Given the description of an element on the screen output the (x, y) to click on. 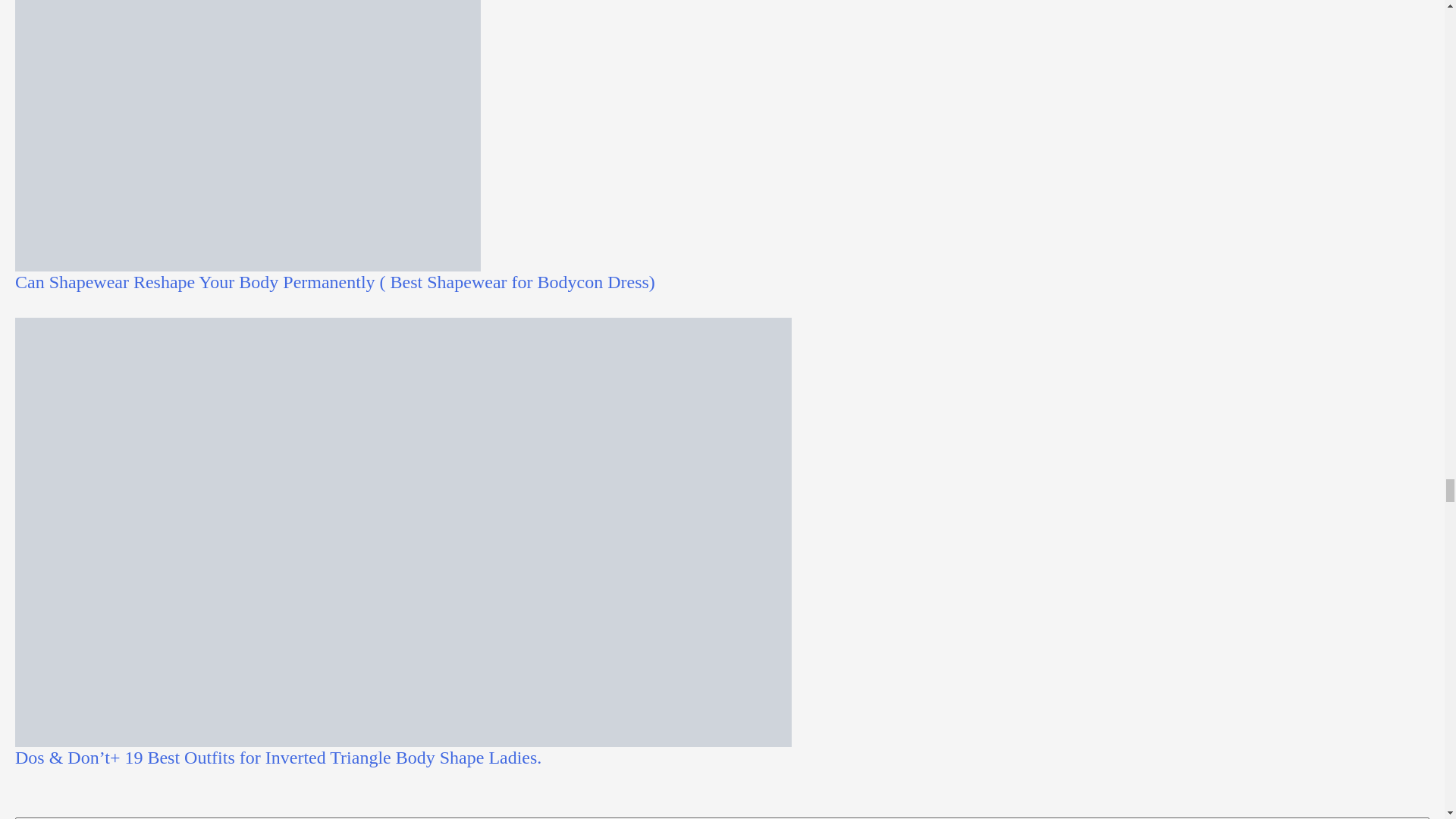
Search (1411, 818)
Search (1411, 818)
